Given the description of an element on the screen output the (x, y) to click on. 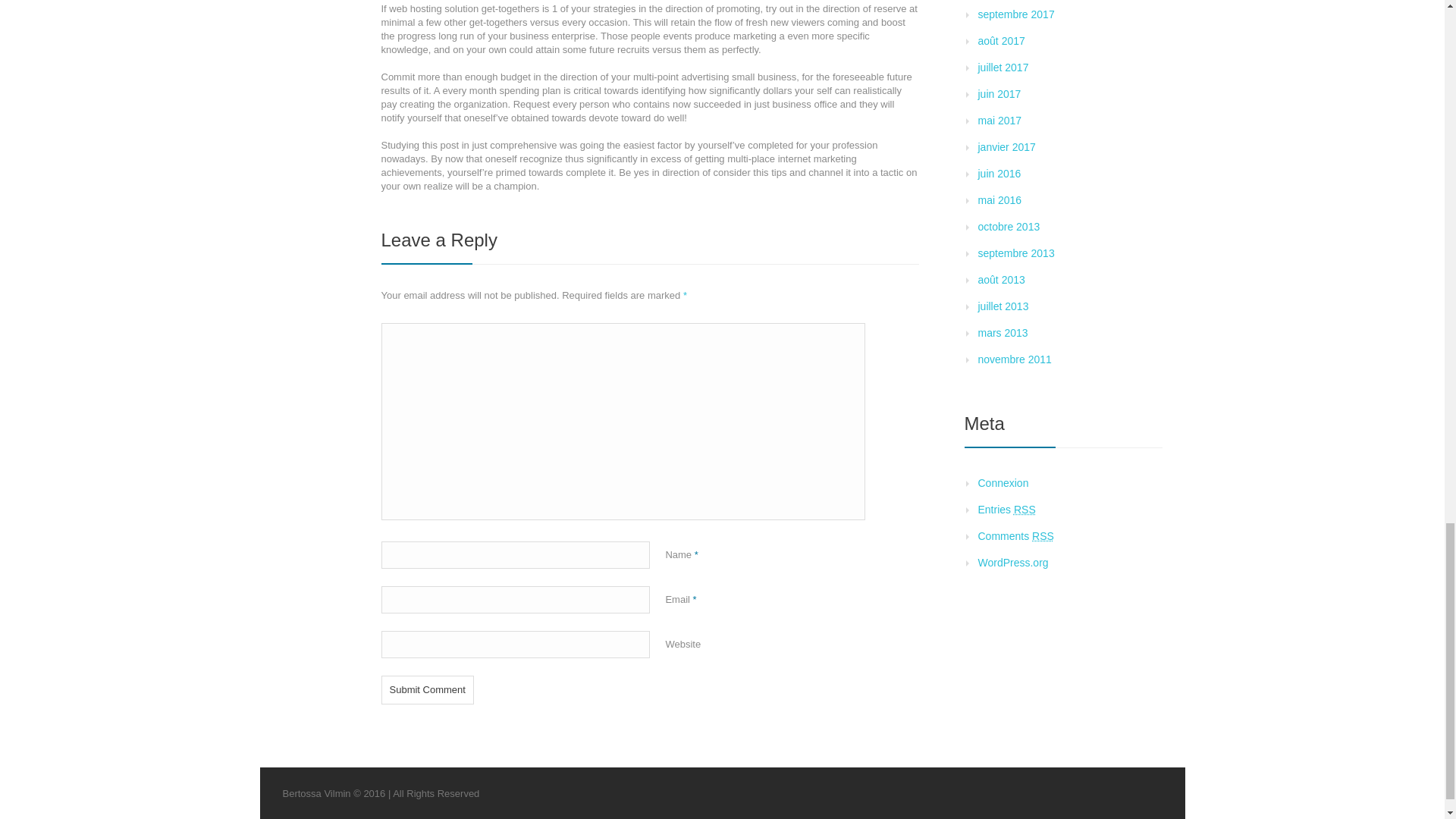
Really Simple Syndication (1043, 535)
Submit Comment (426, 689)
Syndicate this site using RSS 2.0 (1006, 509)
Really Simple Syndication (1024, 509)
The latest comments to all posts in RSS (1016, 535)
Submit Comment (426, 689)
